Given the description of an element on the screen output the (x, y) to click on. 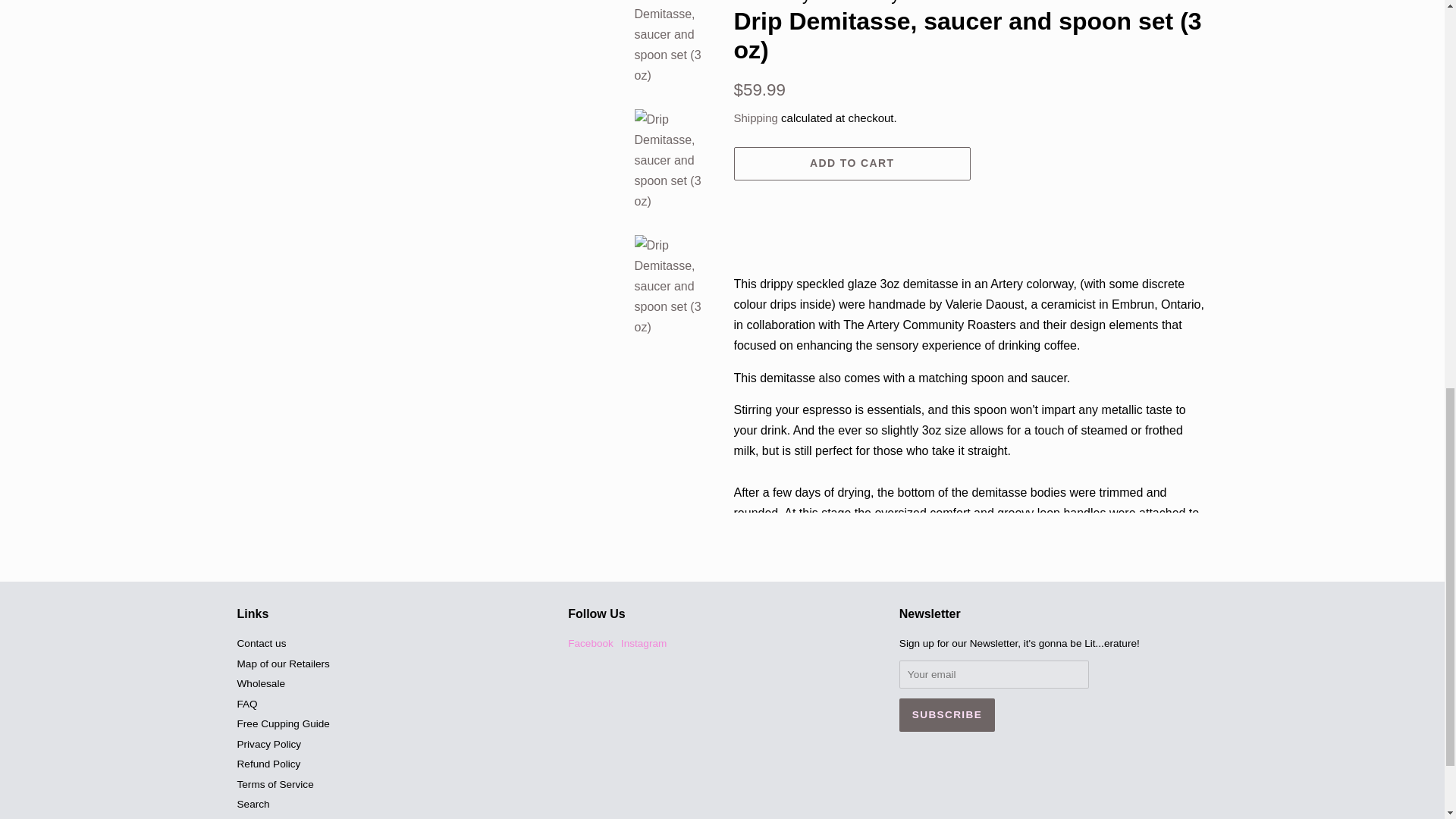
The Artery Community Roasters on Instagram (643, 643)
The Artery Community Roasters on Facebook (589, 643)
Subscribe (946, 715)
